Given the description of an element on the screen output the (x, y) to click on. 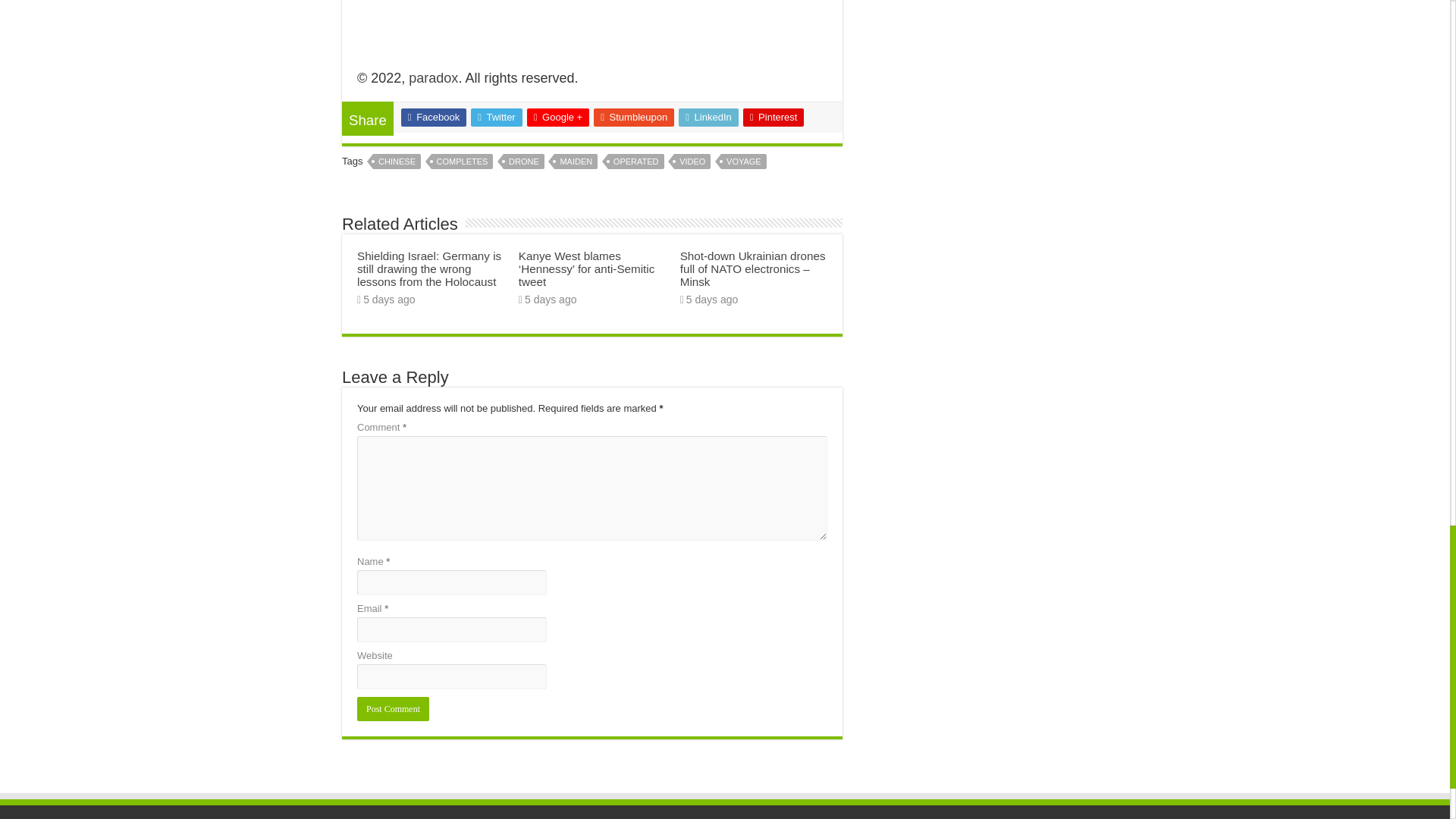
COMPLETES (461, 160)
paradox (433, 77)
Twitter (495, 117)
Stumbleupon (634, 117)
DRONE (523, 160)
Pinterest (773, 117)
Facebook (433, 117)
Post Comment (392, 708)
LinkedIn (708, 117)
CHINESE (396, 160)
